Given the description of an element on the screen output the (x, y) to click on. 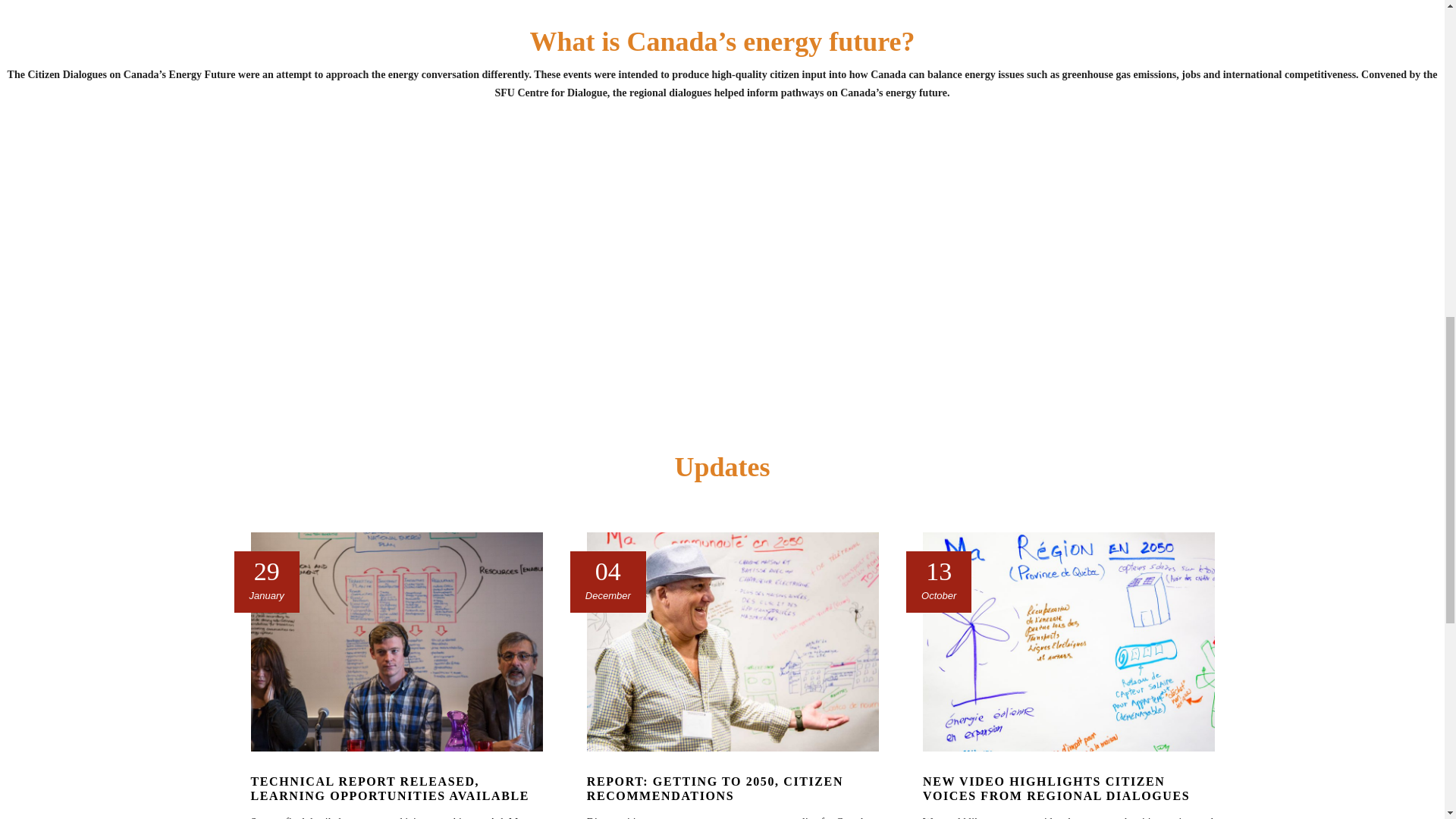
NEW VIDEO HIGHLIGHTS CITIZEN VOICES FROM REGIONAL DIALOGUES (1056, 788)
REPORT: GETTING TO 2050, CITIZEN RECOMMENDATIONS (714, 788)
TECHNICAL REPORT RELEASED, LEARNING OPPORTUNITIES AVAILABLE (389, 788)
